Given the description of an element on the screen output the (x, y) to click on. 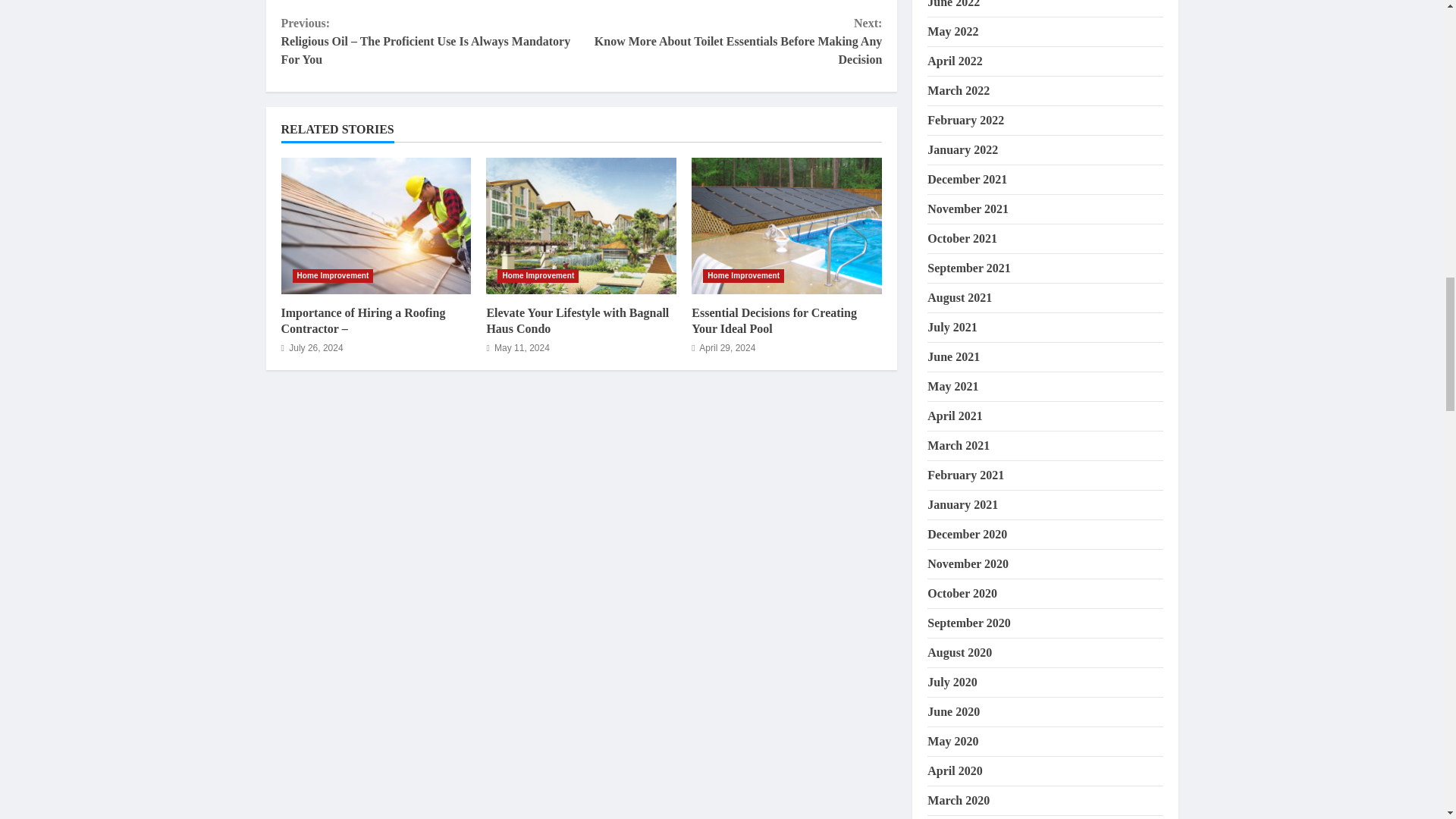
Essential Decisions for Creating Your Ideal Pool (786, 226)
Home Improvement (743, 275)
Elevate Your Lifestyle with Bagnall Haus Condo (577, 320)
Elevate Your Lifestyle with Bagnall Haus Condo (581, 226)
Essential Decisions for Creating Your Ideal Pool (774, 320)
Home Improvement (333, 275)
Home Improvement (537, 275)
